Given the description of an element on the screen output the (x, y) to click on. 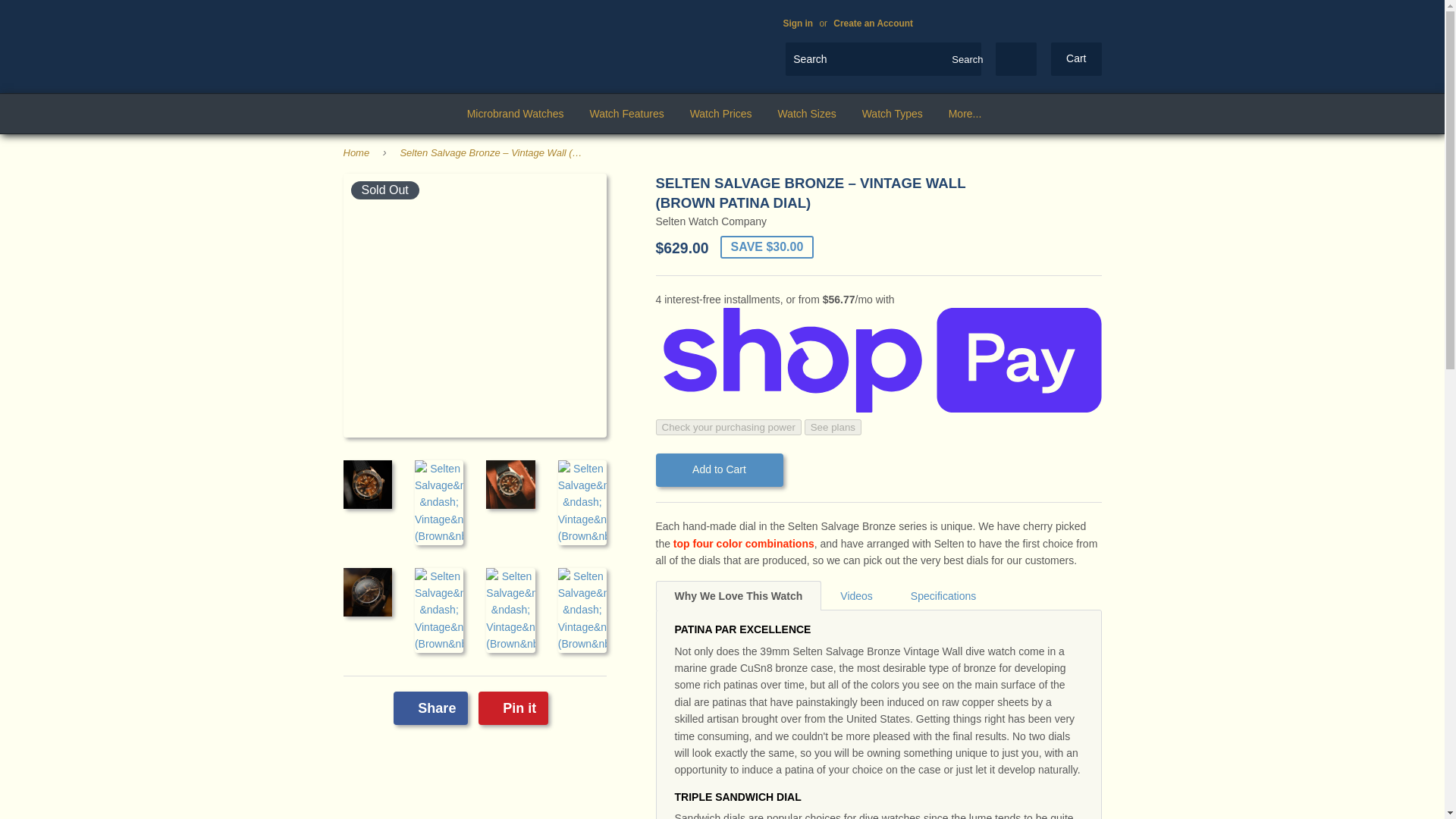
My Wish List (1015, 59)
Back to the front page (358, 152)
Search (964, 60)
My Shopping Cart (1075, 59)
Cart (1075, 59)
Share on Facebook (430, 707)
Create an Account (872, 23)
Sign in (797, 23)
see the top four Selten Salvage Bronze color combinations (742, 543)
Pin on Pinterest (513, 707)
